Given the description of an element on the screen output the (x, y) to click on. 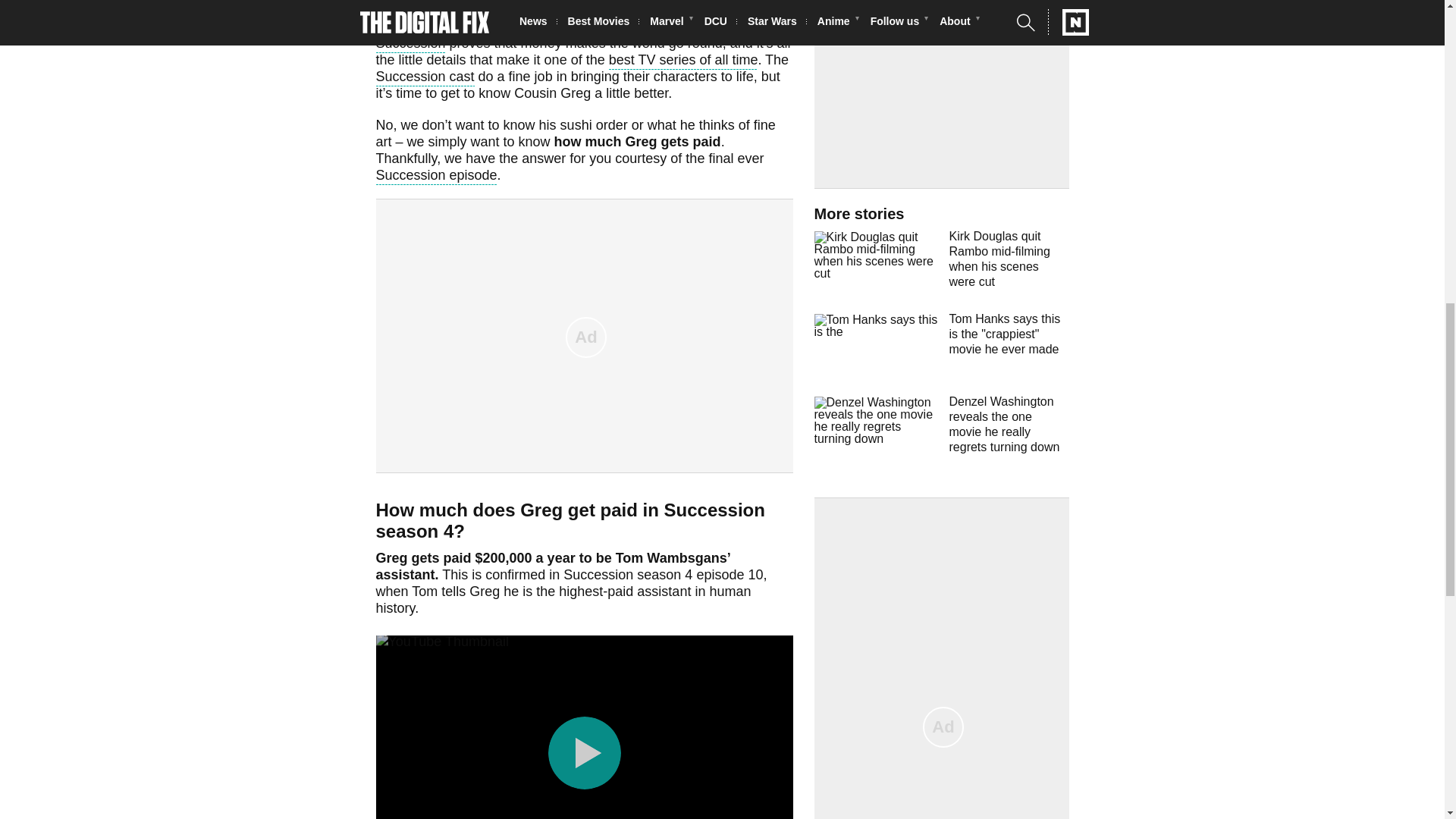
best TV series of all time (683, 61)
Succession episode (436, 176)
Succession (410, 45)
Succession cast (424, 77)
